Given the description of an element on the screen output the (x, y) to click on. 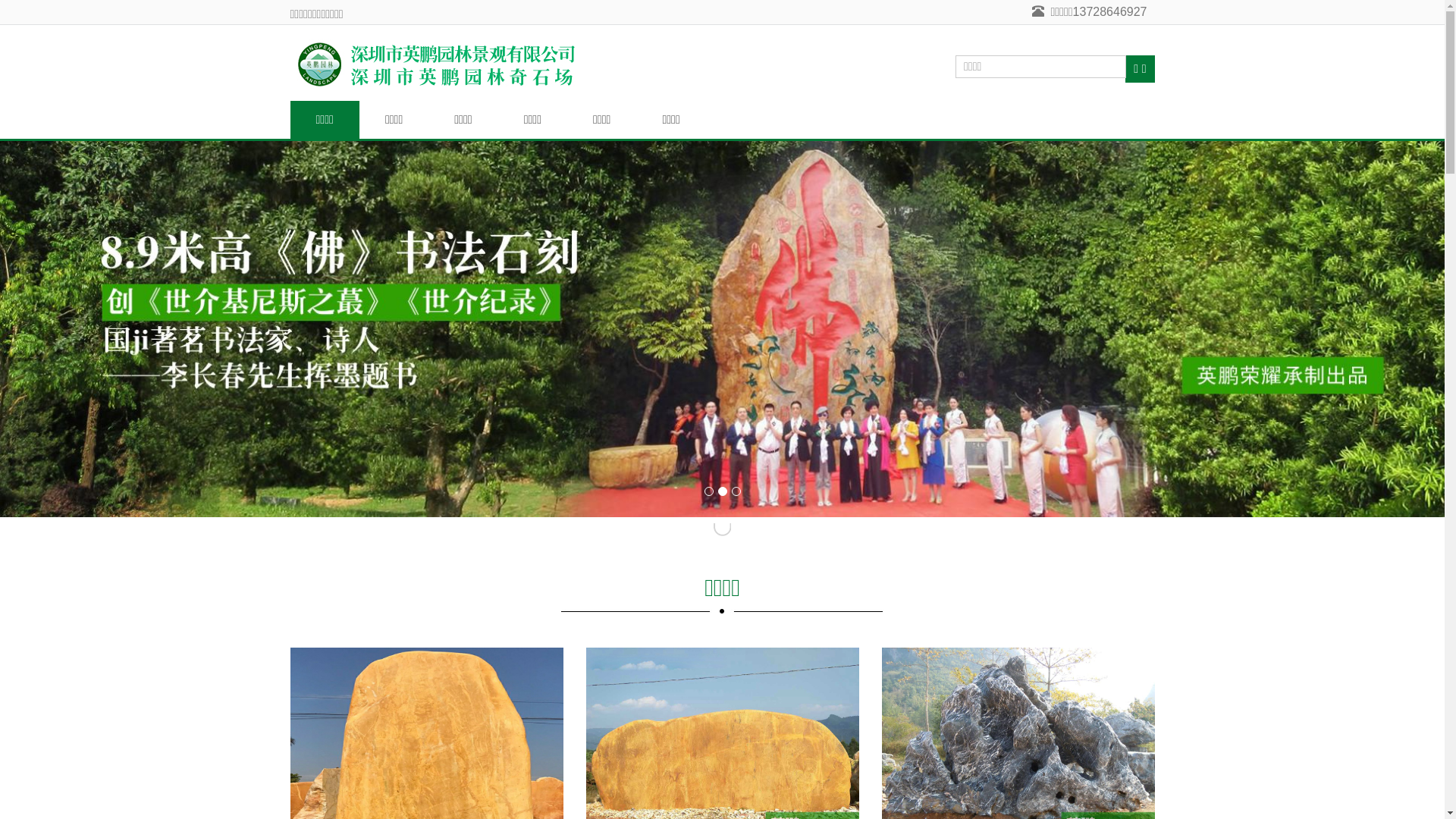
2 Element type: text (721, 490)
3 Element type: text (735, 490)
1 Element type: text (707, 490)
